Given the description of an element on the screen output the (x, y) to click on. 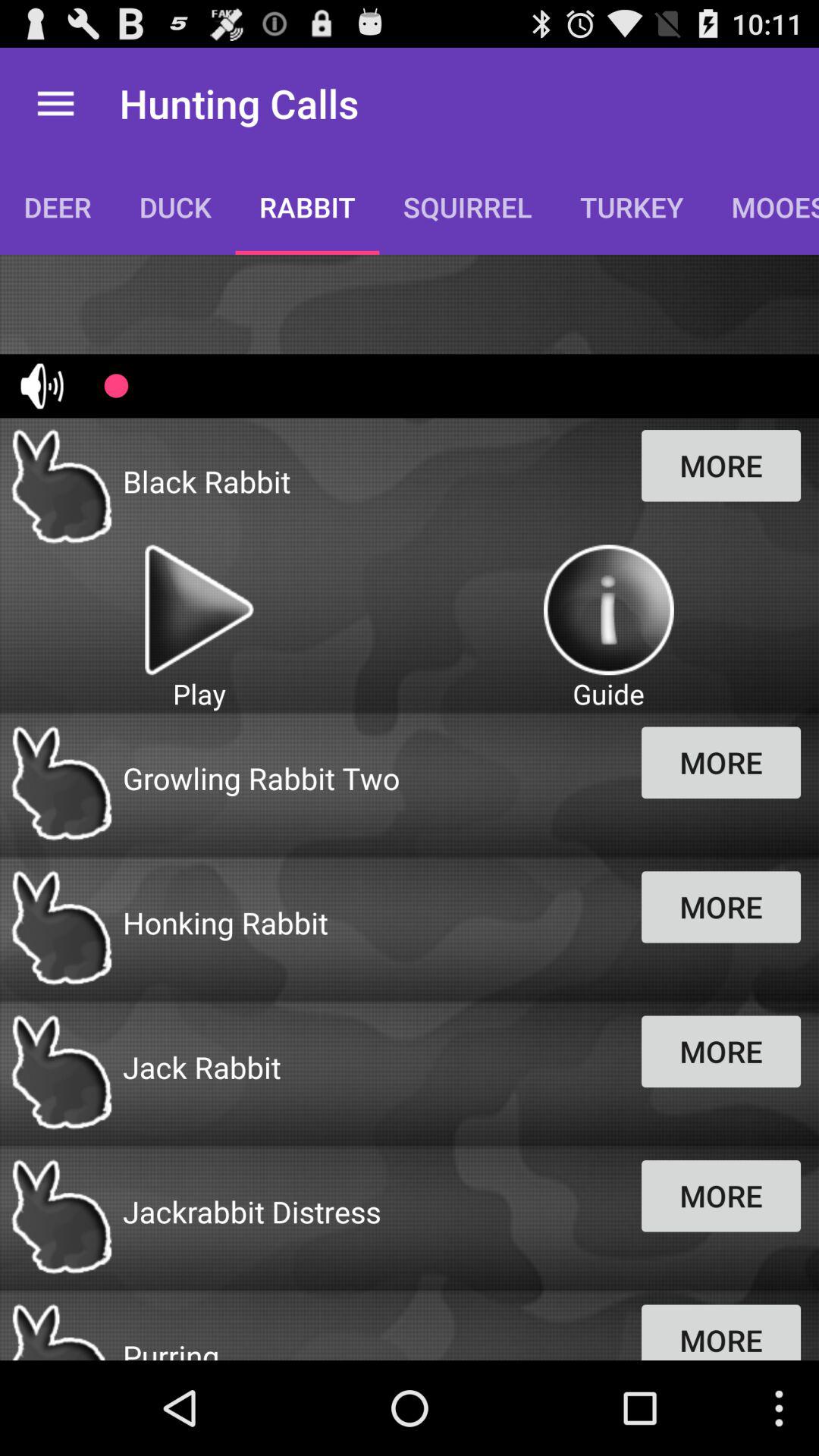
it is a good app (608, 609)
